Given the description of an element on the screen output the (x, y) to click on. 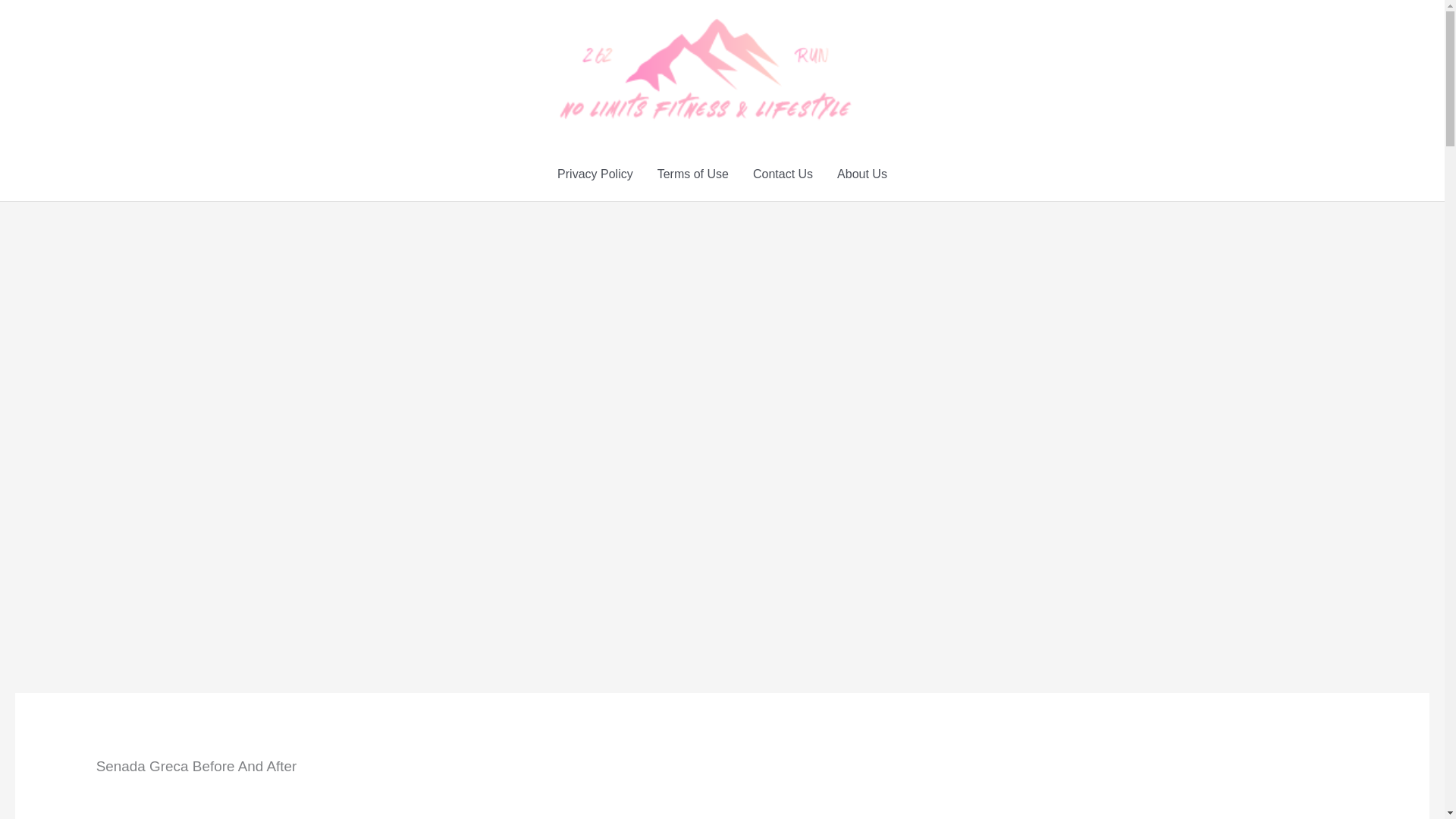
Privacy Policy (594, 174)
262 Run (876, 68)
About Us (862, 174)
Terms of Use (693, 174)
Contact Us (783, 174)
